Given the description of an element on the screen output the (x, y) to click on. 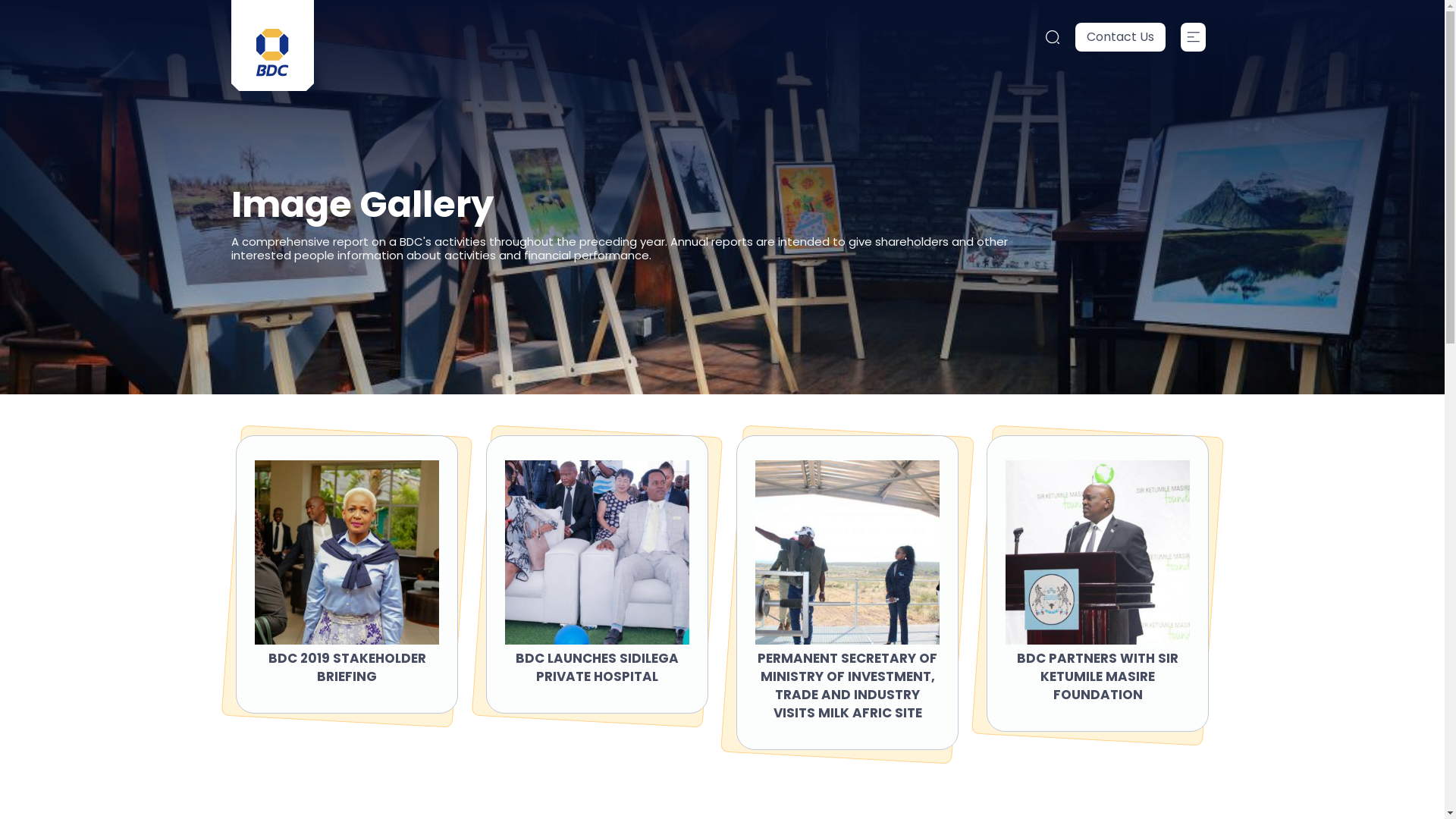
BDC LAUNCHES SIDILEGA PRIVATE HOSPITAL Element type: text (597, 667)
BDC PARTNERS WITH SIR KETUMILE MASIRE FOUNDATION Element type: text (1097, 676)
. Element type: text (1192, 36)
BDC 2019 STAKEHOLDER BRIEFING Element type: text (346, 667)
. Element type: text (1052, 36)
Contact Us Element type: text (1120, 36)
